Given the description of an element on the screen output the (x, y) to click on. 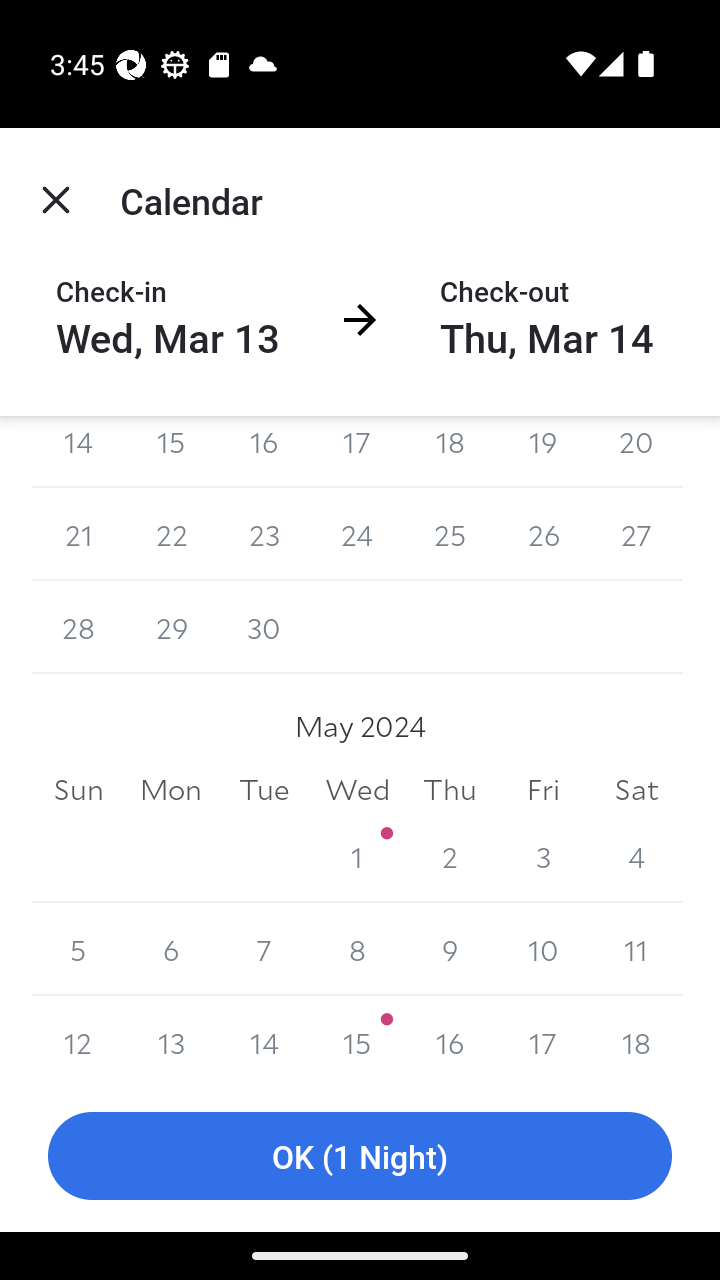
14 14 April 2024 (78, 451)
15 15 April 2024 (171, 451)
16 16 April 2024 (264, 451)
17 17 April 2024 (357, 451)
18 18 April 2024 (449, 451)
19 19 April 2024 (542, 451)
20 20 April 2024 (636, 451)
21 21 April 2024 (78, 534)
22 22 April 2024 (171, 534)
23 23 April 2024 (264, 534)
24 24 April 2024 (357, 534)
25 25 April 2024 (449, 534)
26 26 April 2024 (542, 534)
27 27 April 2024 (636, 534)
28 28 April 2024 (78, 627)
29 29 April 2024 (171, 627)
30 30 April 2024 (264, 627)
Sun (78, 789)
Mon (171, 789)
Tue (264, 789)
Wed (357, 789)
Thu (449, 789)
Fri (542, 789)
Sat (636, 789)
1 1 May 2024 (357, 856)
2 2 May 2024 (449, 856)
3 3 May 2024 (542, 856)
4 4 May 2024 (636, 856)
5 5 May 2024 (78, 948)
6 6 May 2024 (171, 948)
7 7 May 2024 (264, 948)
8 8 May 2024 (357, 948)
9 9 May 2024 (449, 948)
10 10 May 2024 (542, 948)
11 11 May 2024 (636, 948)
12 12 May 2024 (78, 1037)
13 13 May 2024 (171, 1037)
14 14 May 2024 (264, 1037)
15 15 May 2024 (357, 1037)
16 16 May 2024 (449, 1037)
17 17 May 2024 (542, 1037)
18 18 May 2024 (636, 1037)
OK (1 Night) (359, 1156)
